Given the description of an element on the screen output the (x, y) to click on. 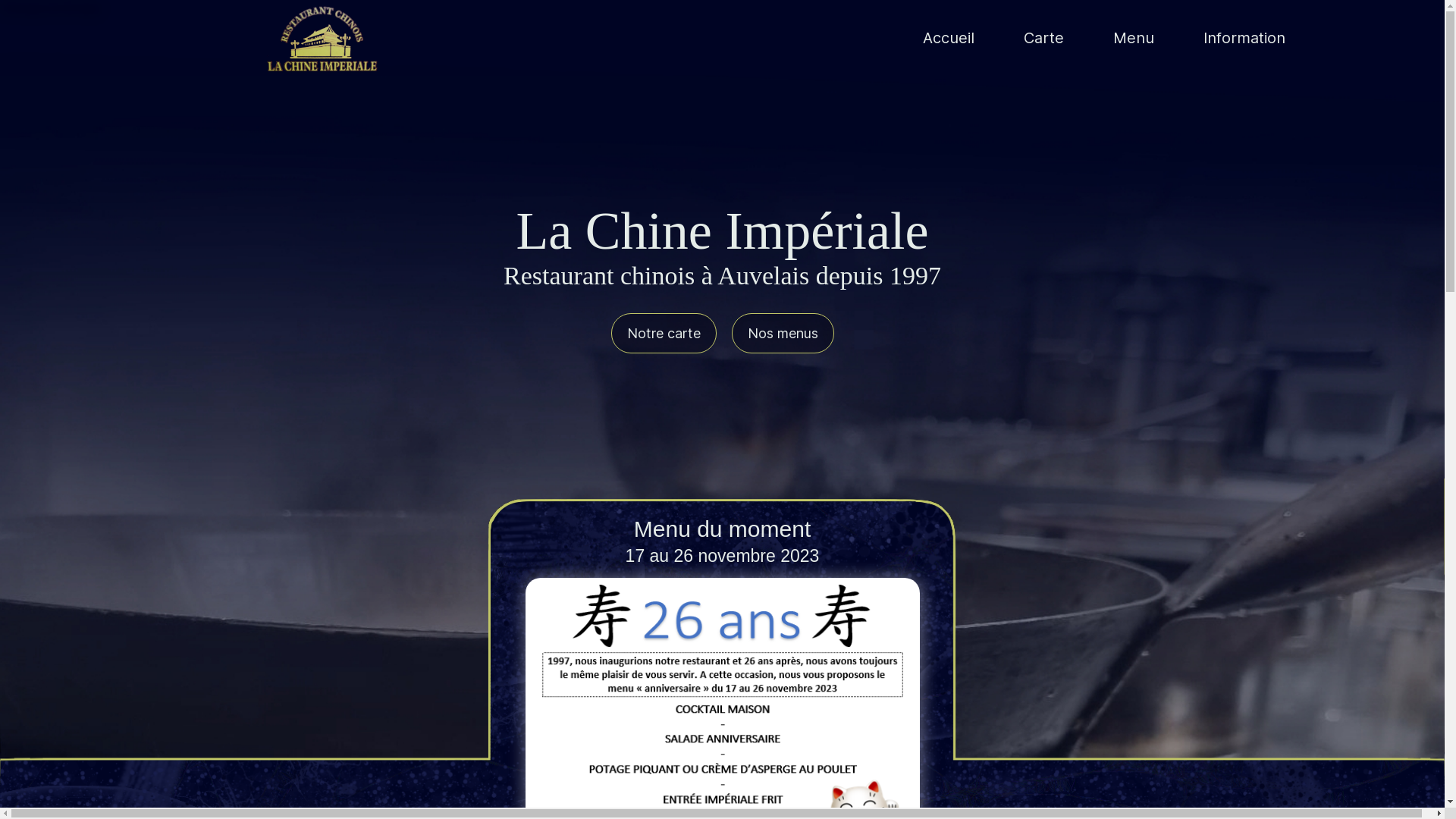
Notre carte Element type: text (663, 333)
Carte Element type: text (1043, 37)
Menu Element type: text (1133, 37)
Information Element type: text (1243, 37)
Accueil Element type: text (947, 37)
Nos menus Element type: text (782, 333)
